Given the description of an element on the screen output the (x, y) to click on. 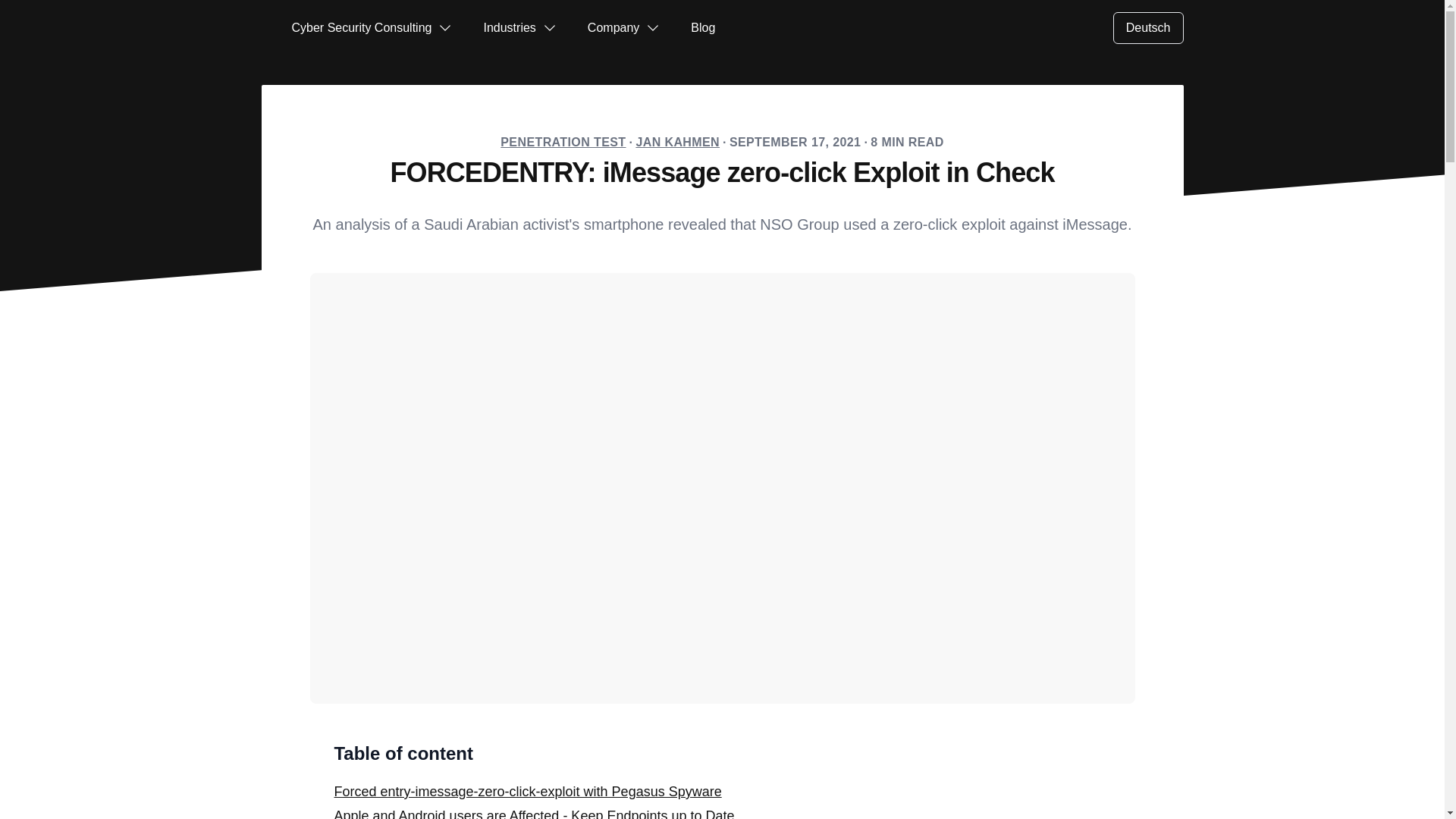
PENETRATION TEST (563, 141)
JAN KAHMEN (676, 141)
Industries (519, 27)
Company (624, 27)
Deutsch (1148, 28)
Blog (702, 27)
Cyber Security Consulting (371, 27)
